Given the description of an element on the screen output the (x, y) to click on. 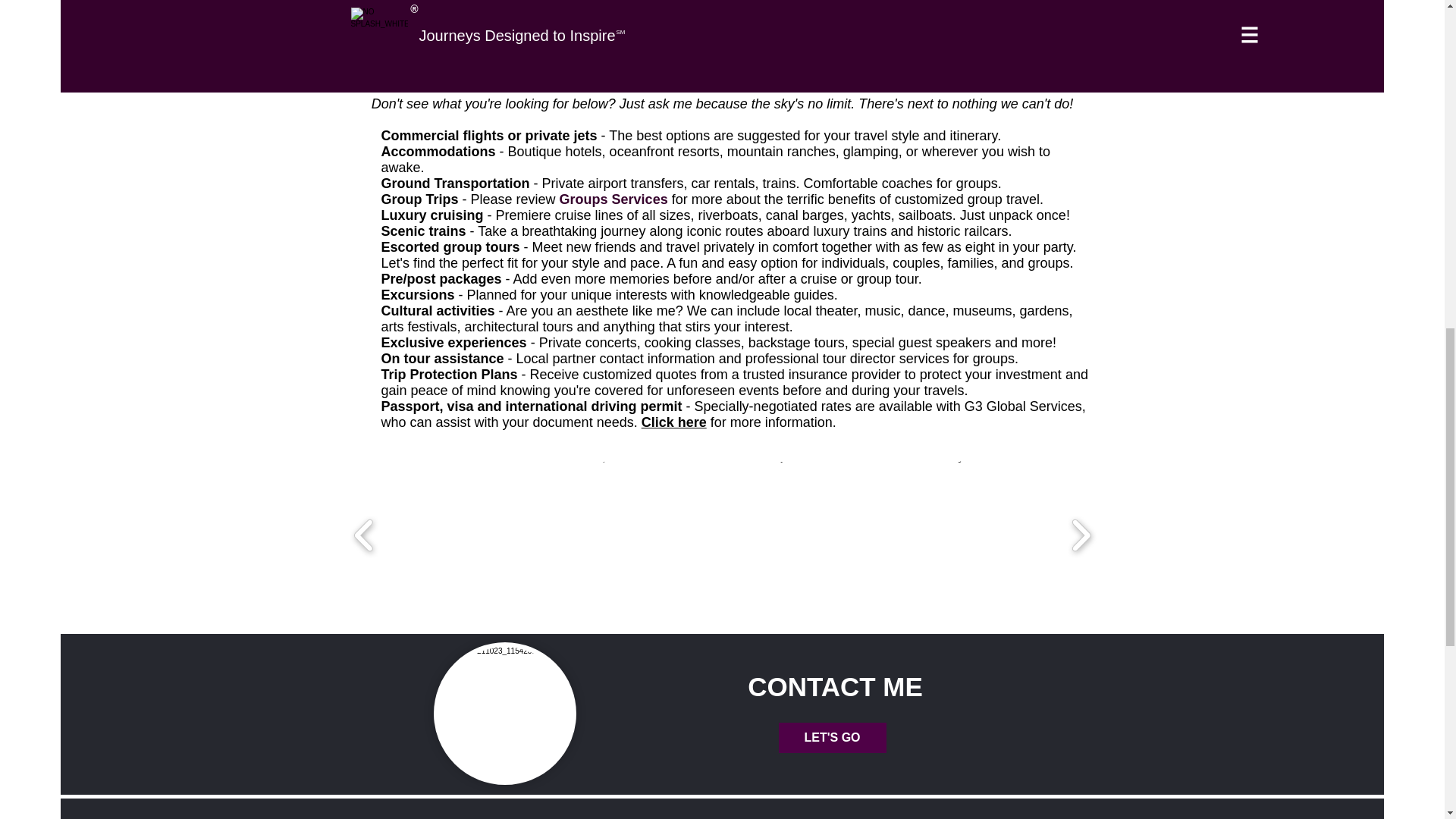
LET'S GO (831, 737)
Groups Services (613, 199)
Click here (674, 421)
